Given the description of an element on the screen output the (x, y) to click on. 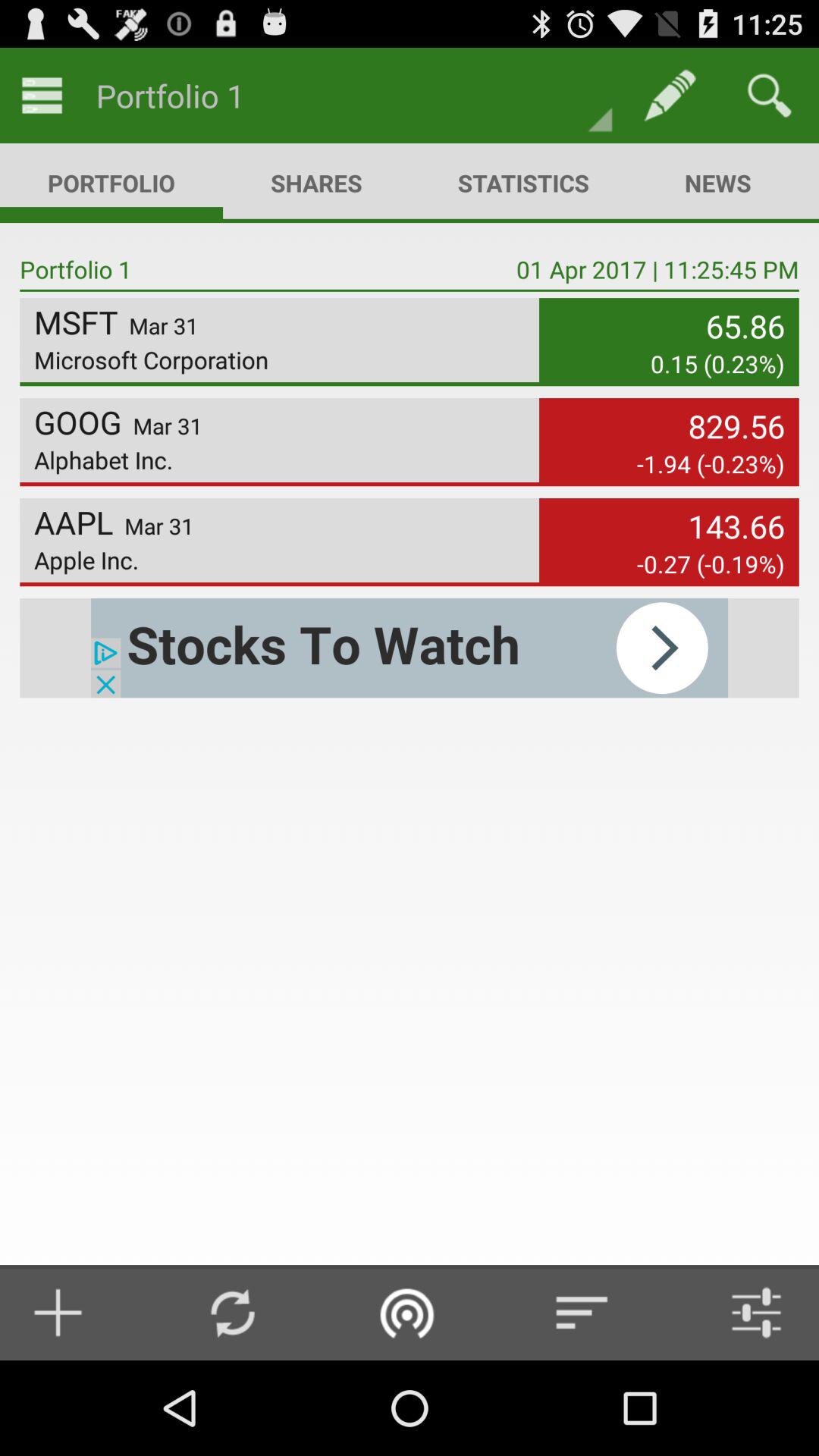
select the icon which is at the bottom right side (744, 1312)
select wifi button which is on the bottom of the page (407, 1312)
click on the edit icon (669, 95)
